Given the description of an element on the screen output the (x, y) to click on. 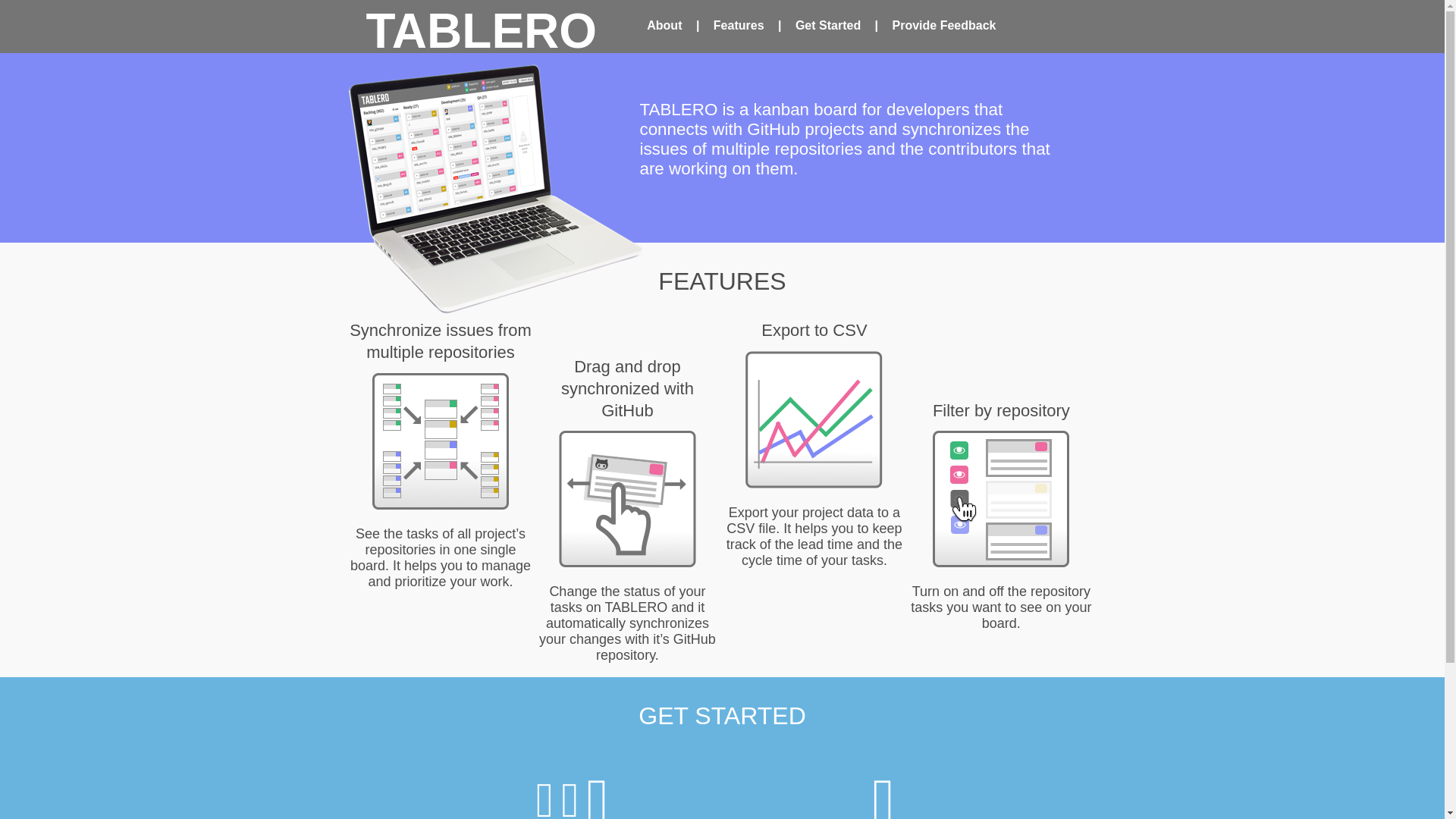
Features (738, 25)
Provide Feedback (944, 25)
TABLERO (481, 34)
Get Started (827, 25)
About (664, 25)
